Given the description of an element on the screen output the (x, y) to click on. 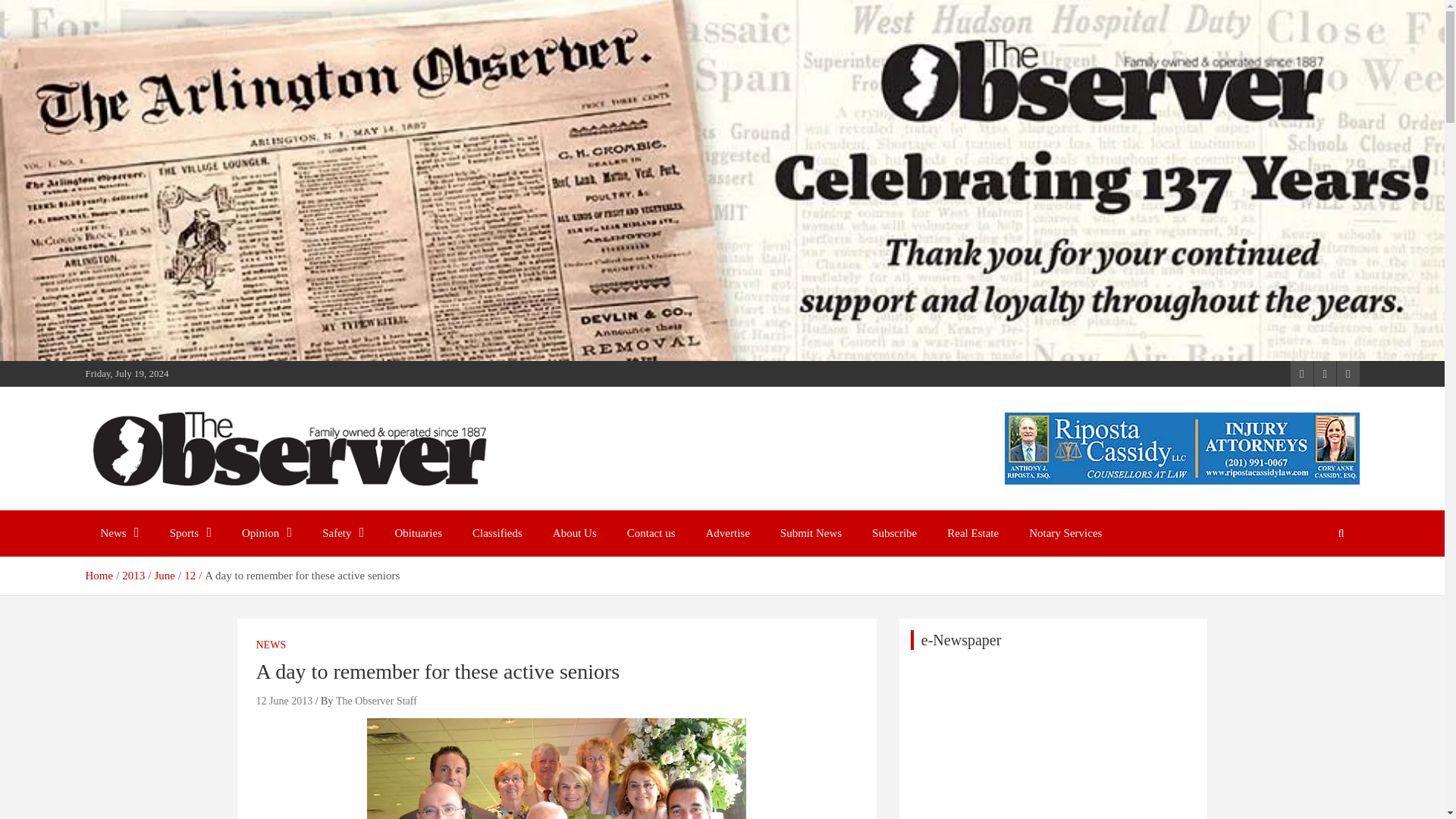
Obituaries (418, 533)
The Observer Online (212, 506)
News (119, 533)
Sports (190, 533)
About Us (574, 533)
Safety (342, 533)
Opinion (267, 533)
Classifieds (497, 533)
A day to remember for these active seniors (284, 700)
